Given the description of an element on the screen output the (x, y) to click on. 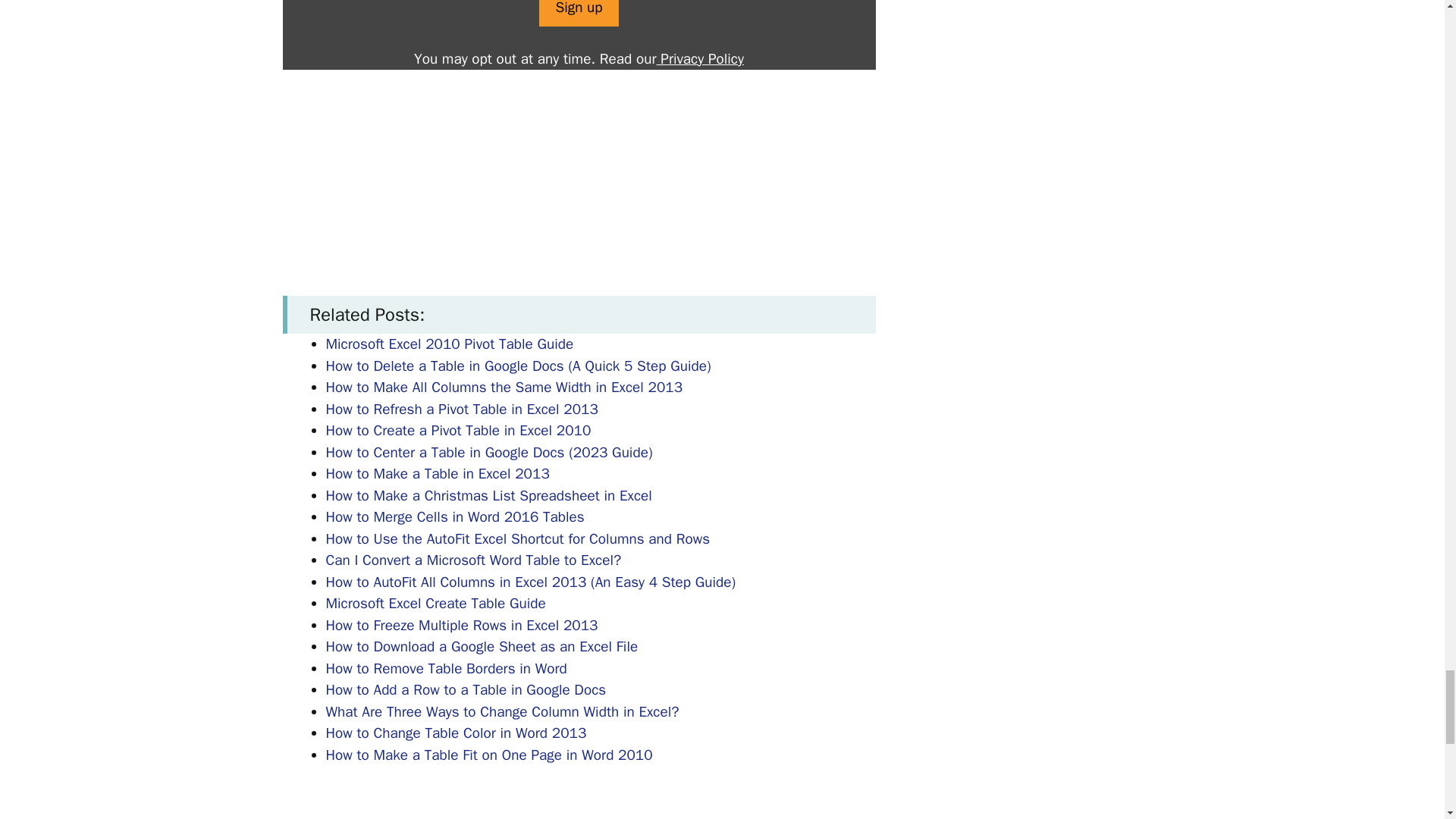
Sign up (577, 13)
Privacy Policy (700, 58)
Microsoft Excel 2010 Pivot Table Guide (449, 343)
How to Make All Columns the Same Width in Excel 2013 (504, 387)
Sign up (577, 13)
